Given the description of an element on the screen output the (x, y) to click on. 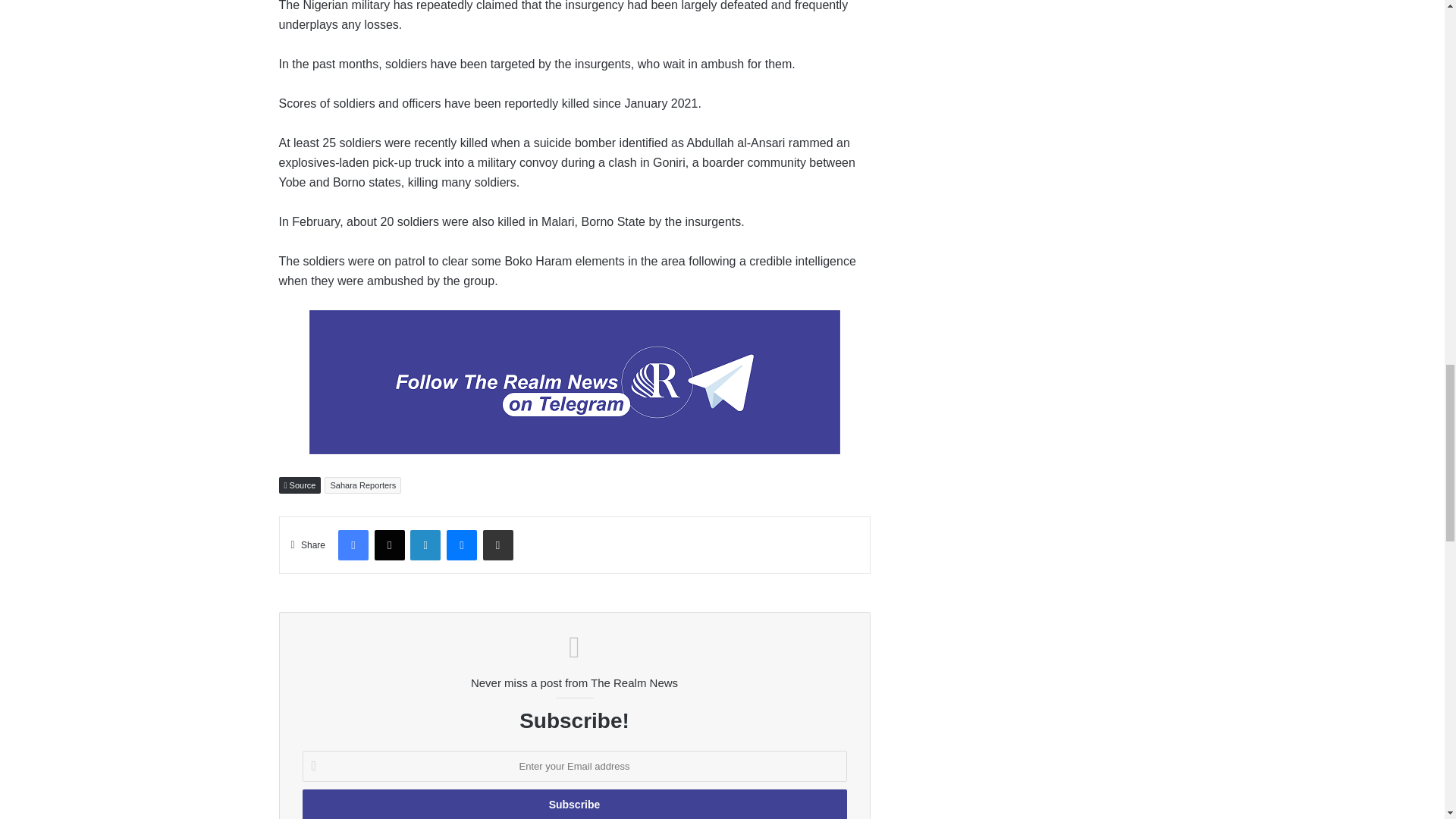
Sahara Reporters (362, 484)
Subscribe (573, 804)
